Given the description of an element on the screen output the (x, y) to click on. 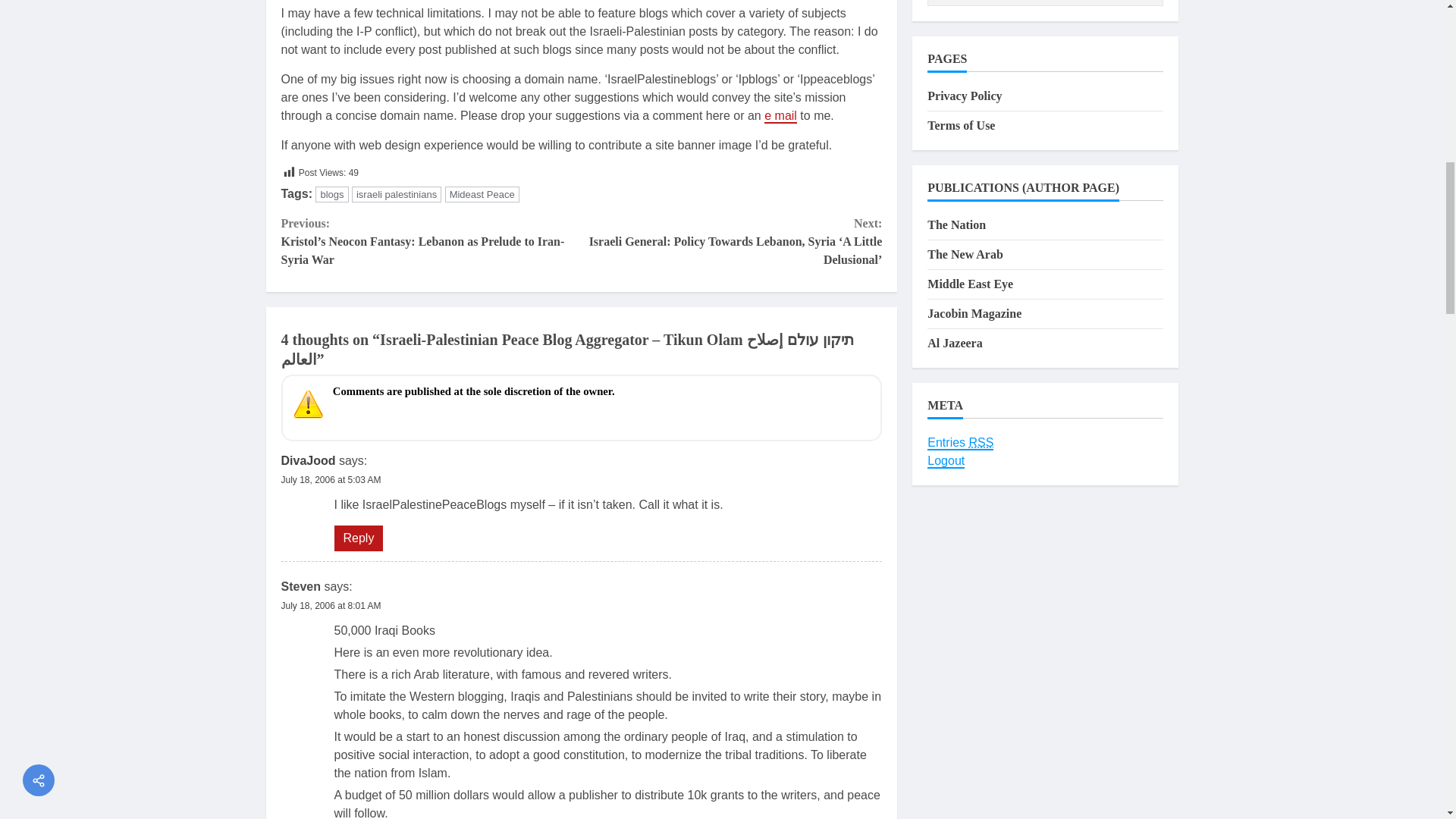
Mideast Peace (482, 194)
Really Simple Syndication (981, 442)
israeli palestinians (396, 194)
blogs (331, 194)
Reply (357, 538)
July 18, 2006 at 5:03 AM (330, 480)
DivaJood (307, 460)
e mail (780, 115)
July 18, 2006 at 8:01 AM (330, 605)
